Given the description of an element on the screen output the (x, y) to click on. 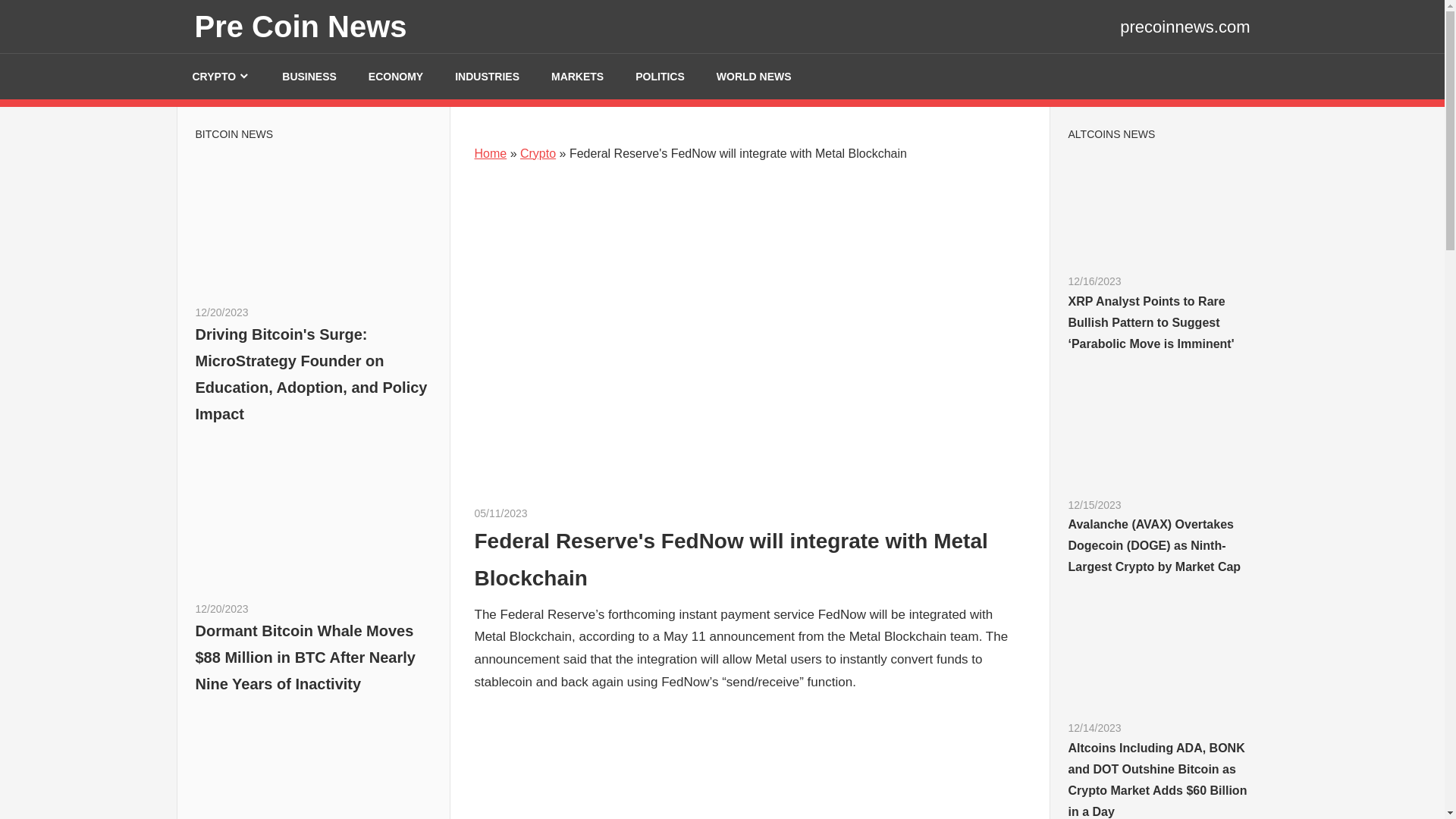
MARKETS (577, 76)
Pre Coin News (299, 26)
ECONOMY (395, 76)
POLITICS (660, 76)
CRYPTO (221, 76)
3:39 am (221, 608)
BITCOIN NEWS (234, 133)
11:31 pm (500, 512)
BUSINESS (309, 76)
View all posts from category Bitcoin (234, 133)
Home (490, 153)
INDUSTRIES (487, 76)
Crypto (537, 153)
Crypto (543, 512)
11:39 am (221, 312)
